Given the description of an element on the screen output the (x, y) to click on. 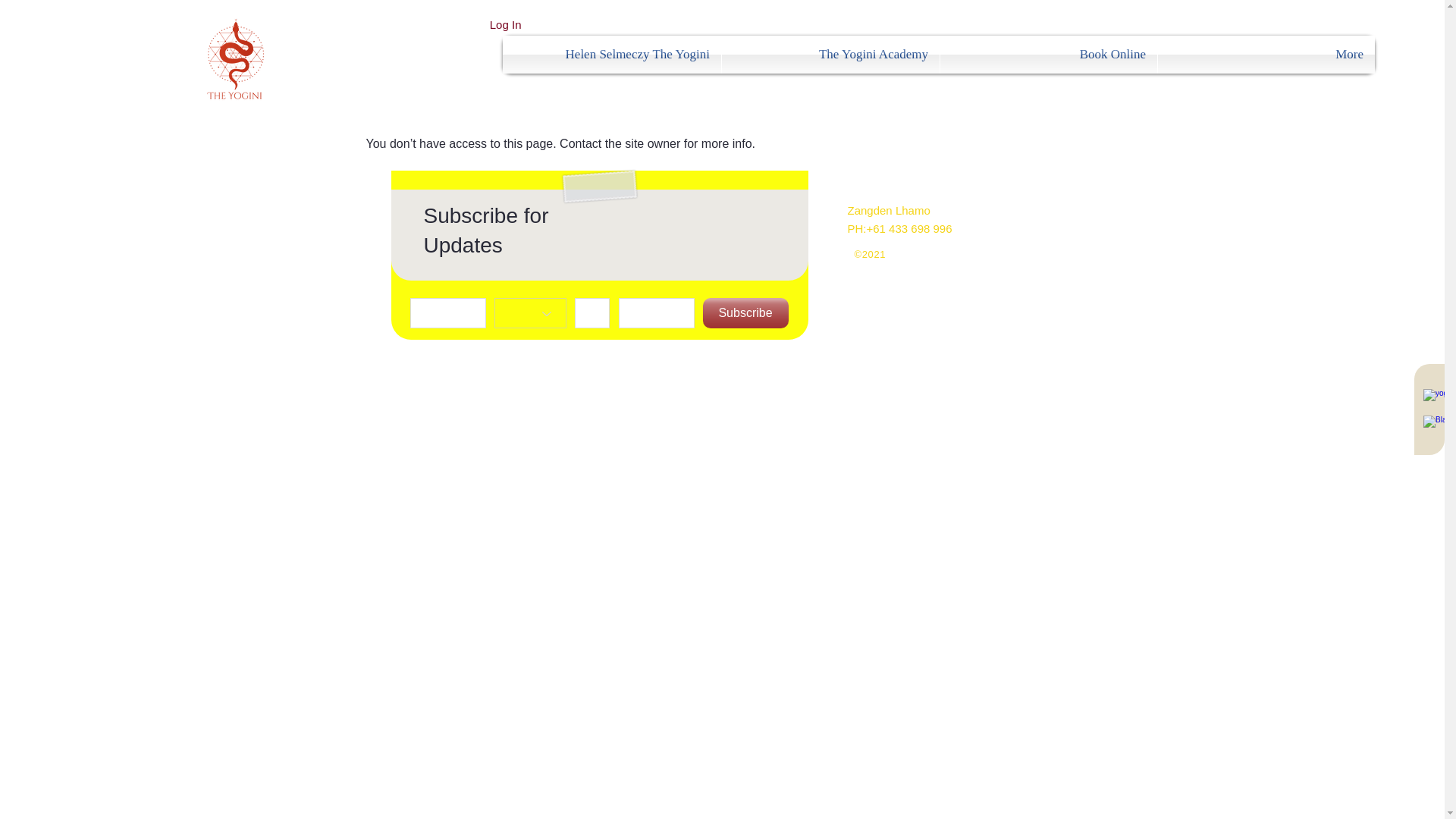
Log In (505, 24)
Subscribe (744, 313)
Book Online (1048, 54)
The Yogini Academy (830, 54)
Helen Selmeczy The Yogini (611, 54)
